Given the description of an element on the screen output the (x, y) to click on. 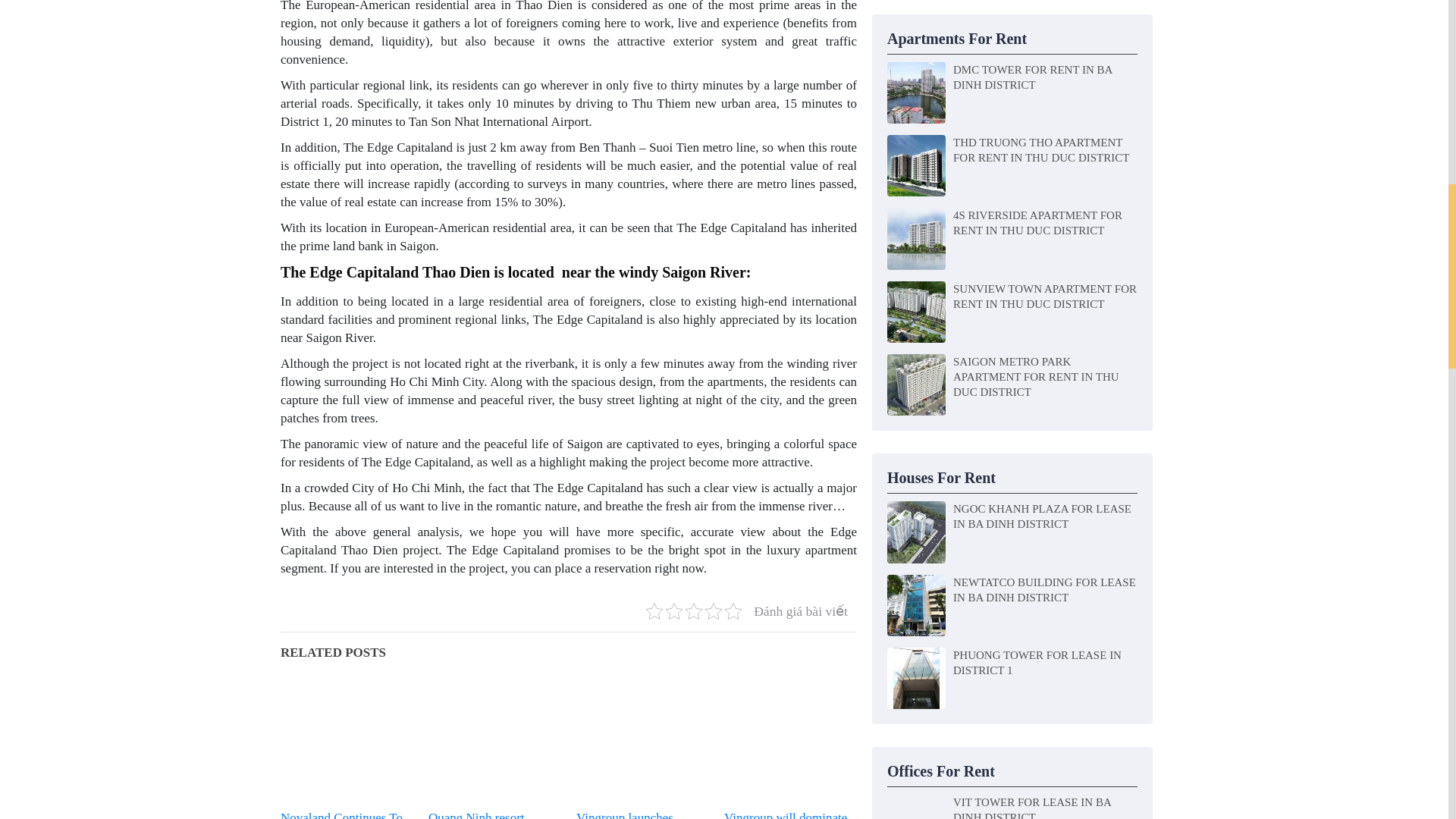
Quang Ninh resort, entertainment area is nearly 16ha (494, 739)
Vingroup launches Vinhomes Skylake Pham Hung project (642, 739)
Quang Ninh resort, entertainment area is nearly 16ha (494, 814)
Vingroup launches Vinhomes Skylake Pham Hung project (642, 814)
